Given the description of an element on the screen output the (x, y) to click on. 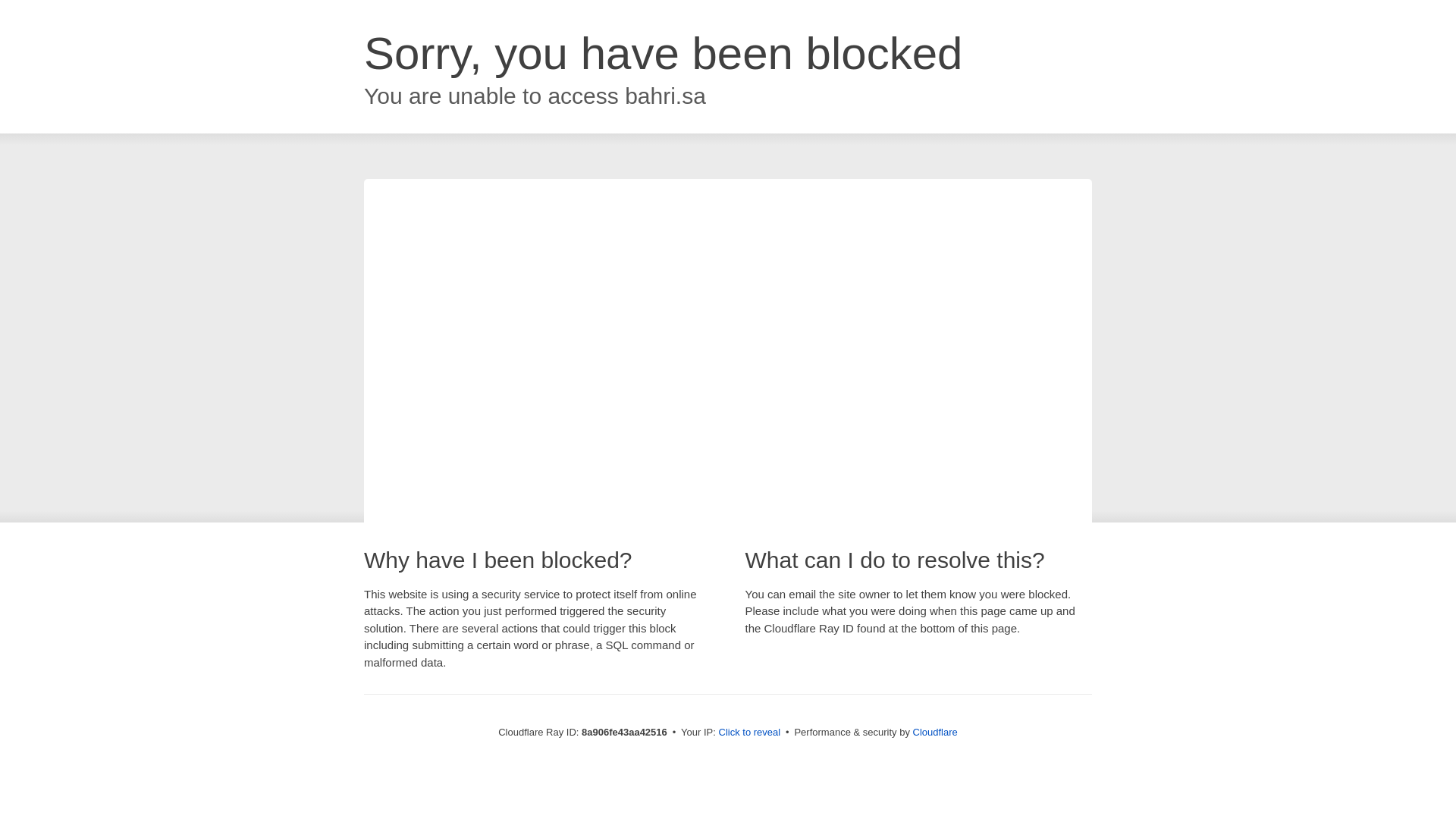
Cloudflare (935, 731)
Click to reveal (749, 732)
